Given the description of an element on the screen output the (x, y) to click on. 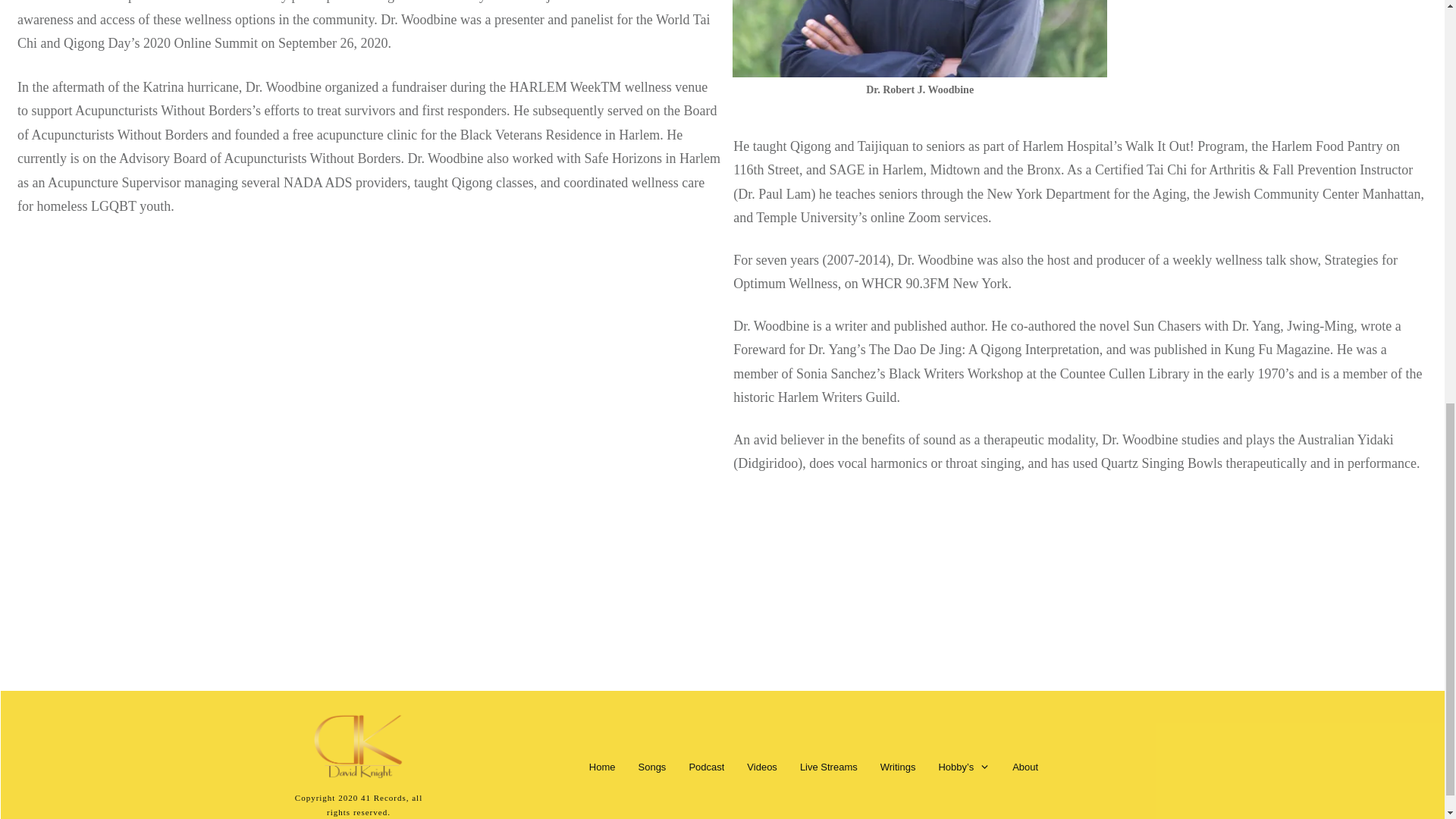
Videos (761, 767)
Home (602, 767)
Podcast (705, 767)
About (1024, 767)
Writings (897, 767)
Live Streams (828, 767)
Songs (652, 767)
